Given the description of an element on the screen output the (x, y) to click on. 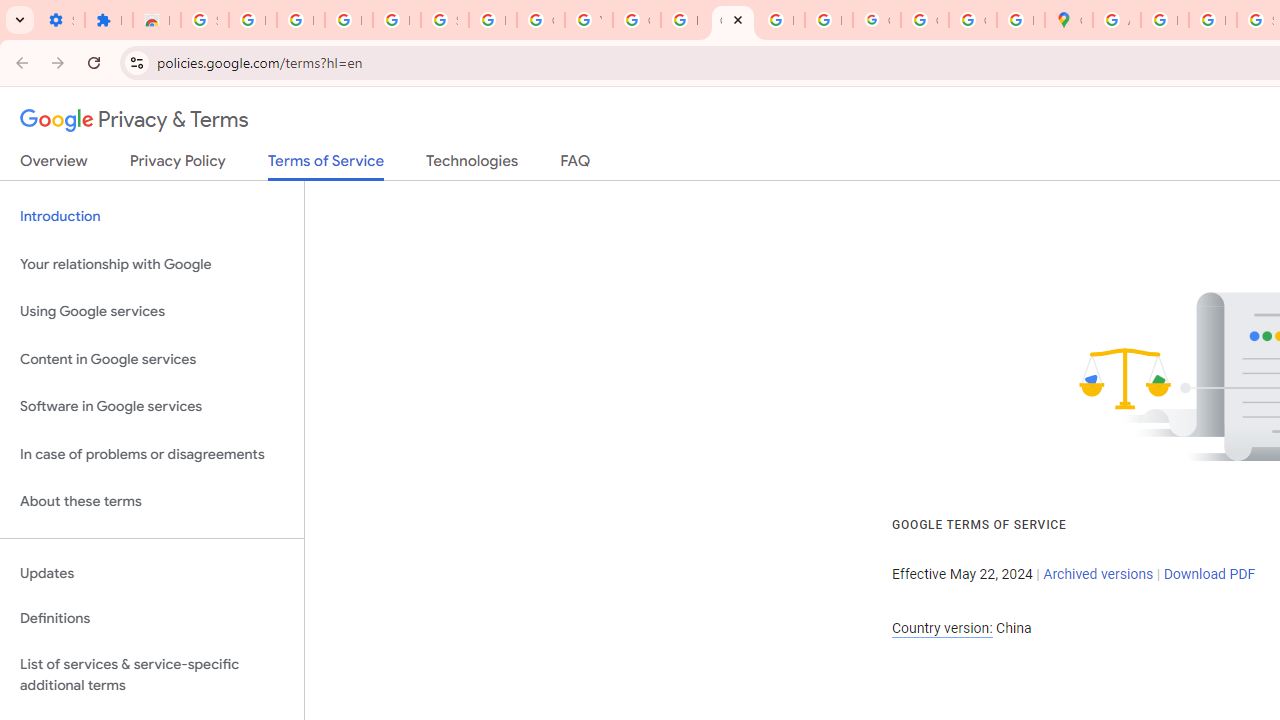
Content in Google services (152, 358)
Sign in - Google Accounts (204, 20)
Your relationship with Google (152, 263)
Sign in - Google Accounts (444, 20)
Definitions (152, 619)
